Given the description of an element on the screen output the (x, y) to click on. 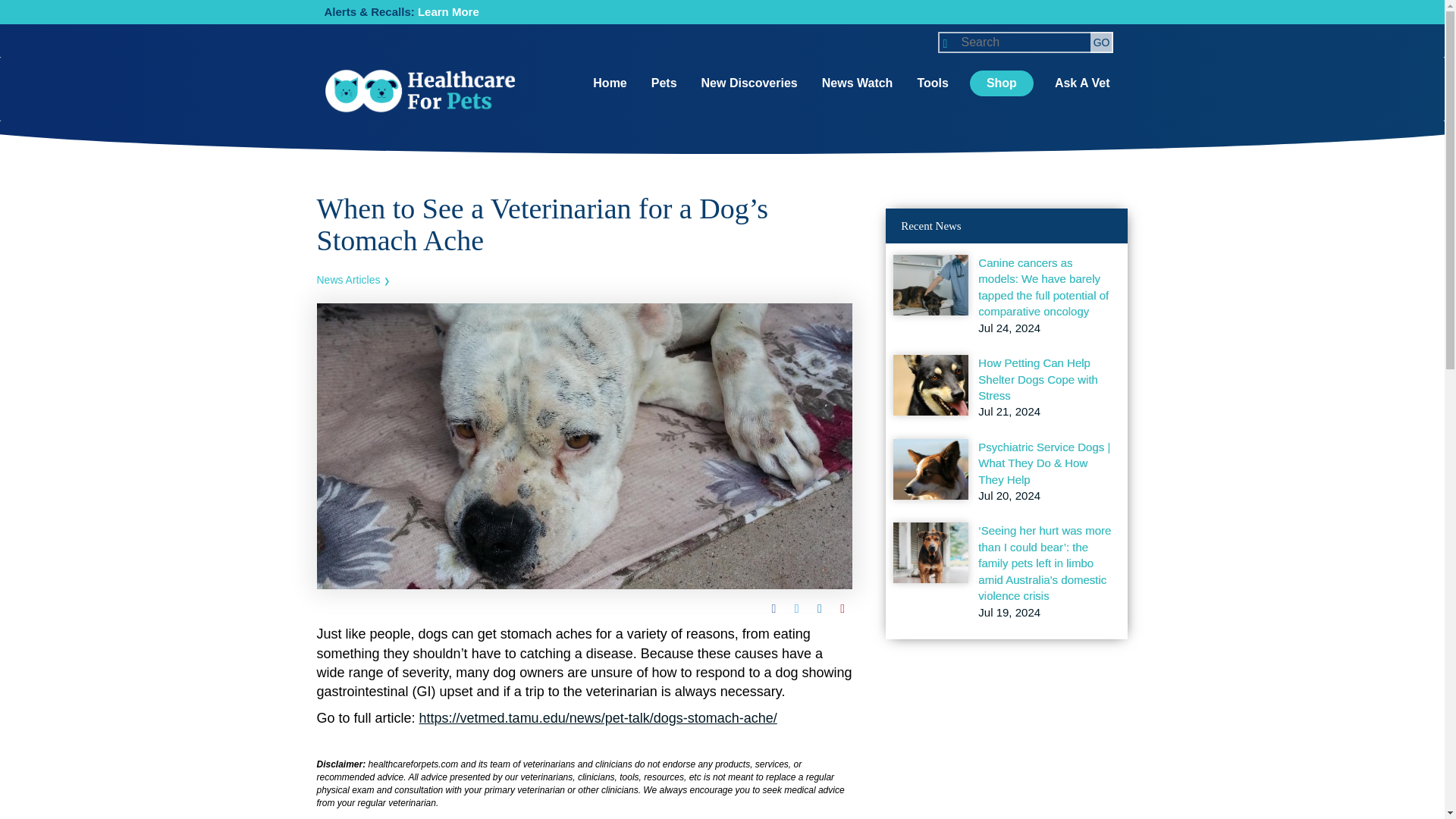
Go (1101, 42)
News Watch (857, 83)
Search for: (1024, 42)
Go (1101, 42)
Healthcare for Pets (420, 90)
News Articles (353, 279)
New Discoveries (749, 83)
Go (1101, 42)
Shop (1001, 83)
Ask A Vet (1082, 83)
